Given the description of an element on the screen output the (x, y) to click on. 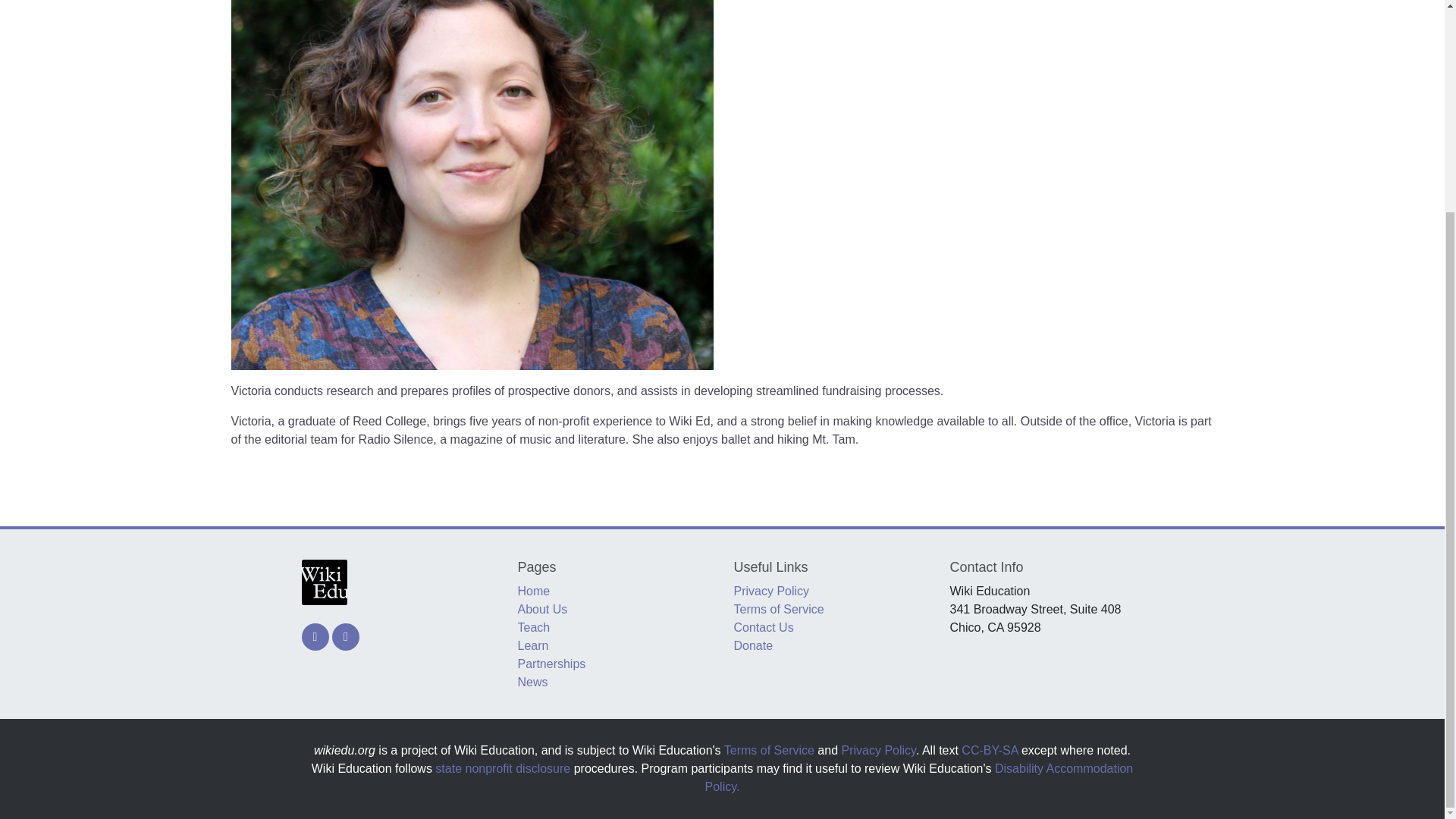
Home (533, 590)
Privacy Policy (878, 749)
Teach (533, 626)
Learn (532, 645)
Terms of Service (778, 608)
Partnerships (550, 663)
Contact Us (763, 626)
Privacy Policy (771, 590)
About Us (541, 608)
Donate (753, 645)
News (531, 681)
Terms of Service (768, 749)
